Given the description of an element on the screen output the (x, y) to click on. 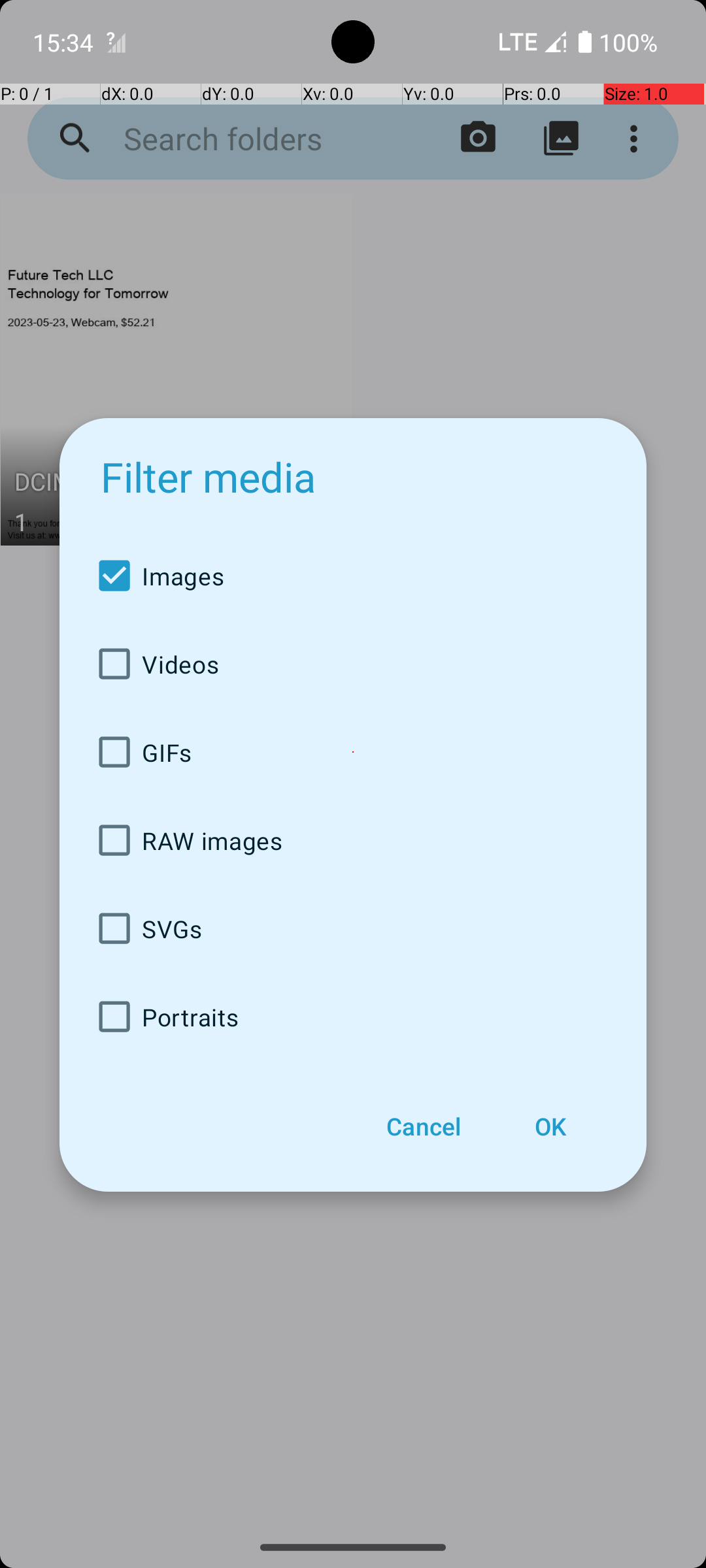
Filter media Element type: android.widget.TextView (207, 476)
GIFs Element type: android.widget.CheckBox (352, 752)
RAW images Element type: android.widget.CheckBox (352, 840)
SVGs Element type: android.widget.CheckBox (352, 928)
Portraits Element type: android.widget.CheckBox (352, 1016)
